Given the description of an element on the screen output the (x, y) to click on. 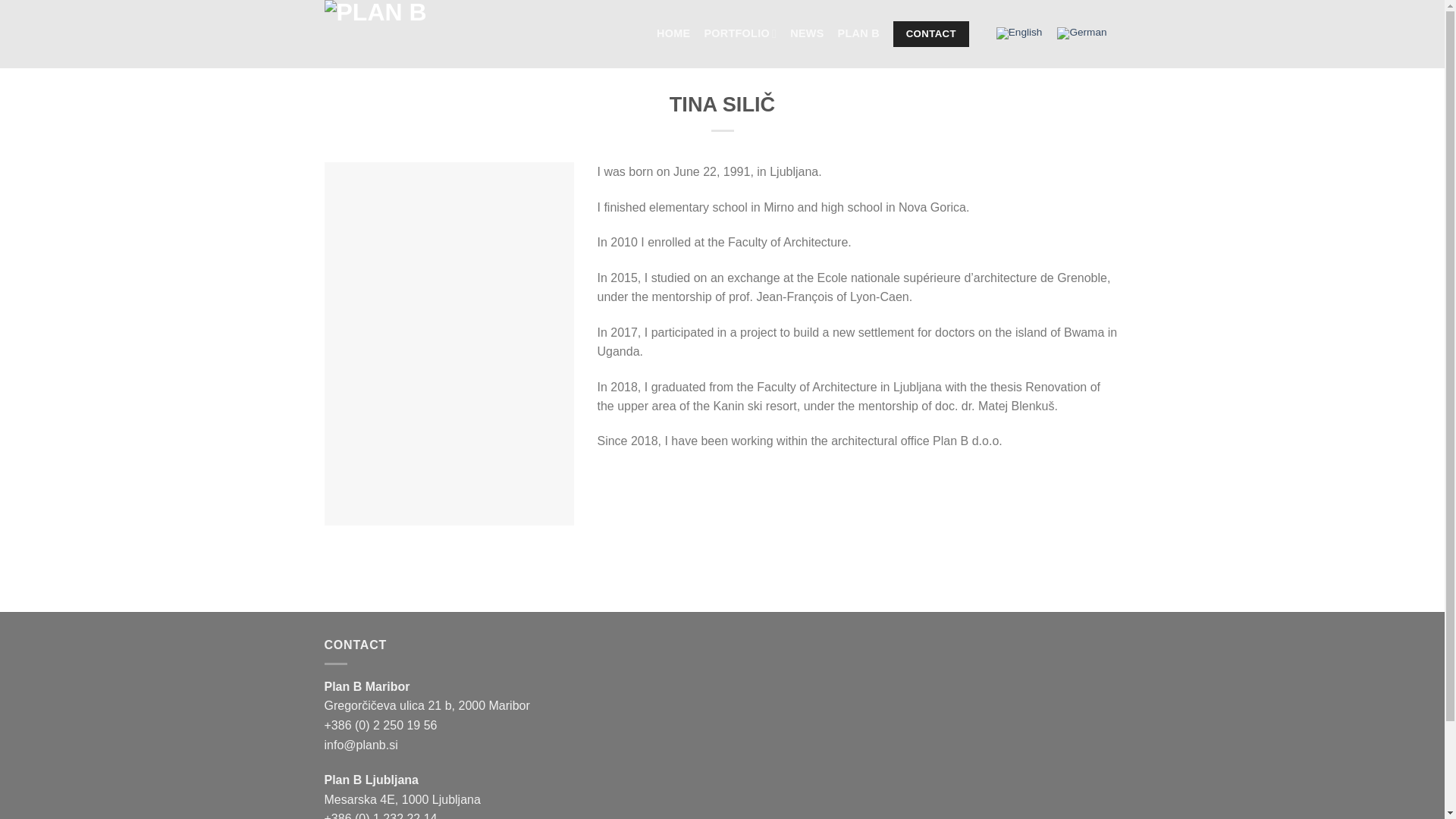
HOME (673, 33)
CONTACT (931, 33)
NEWS (807, 33)
Plan B (400, 33)
PLAN B (858, 33)
PORTFOLIO (739, 33)
